Given the description of an element on the screen output the (x, y) to click on. 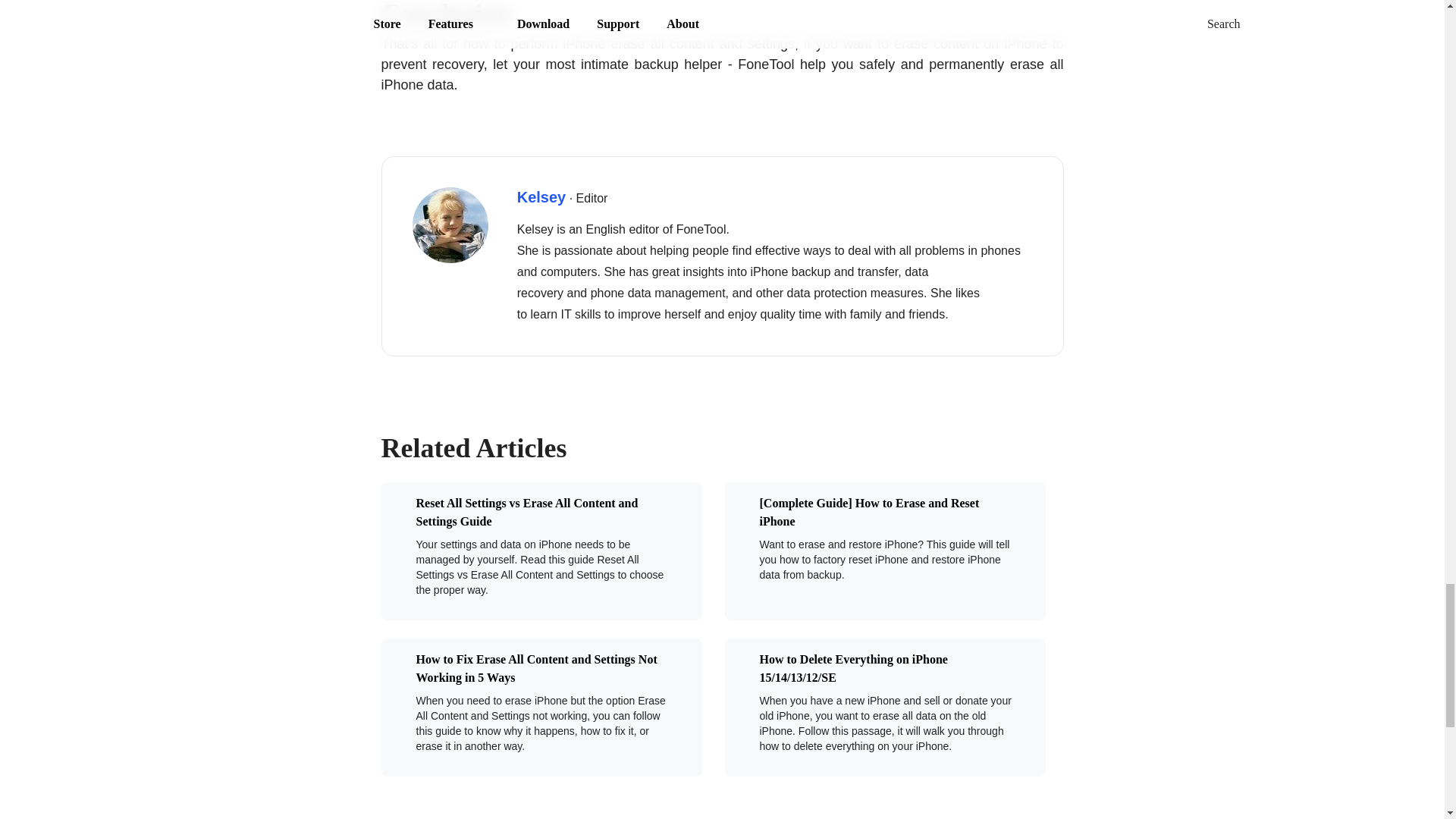
Reset All Settings vs Erase All Content and Settings Guide (532, 512)
Kelsey (541, 197)
